Given the description of an element on the screen output the (x, y) to click on. 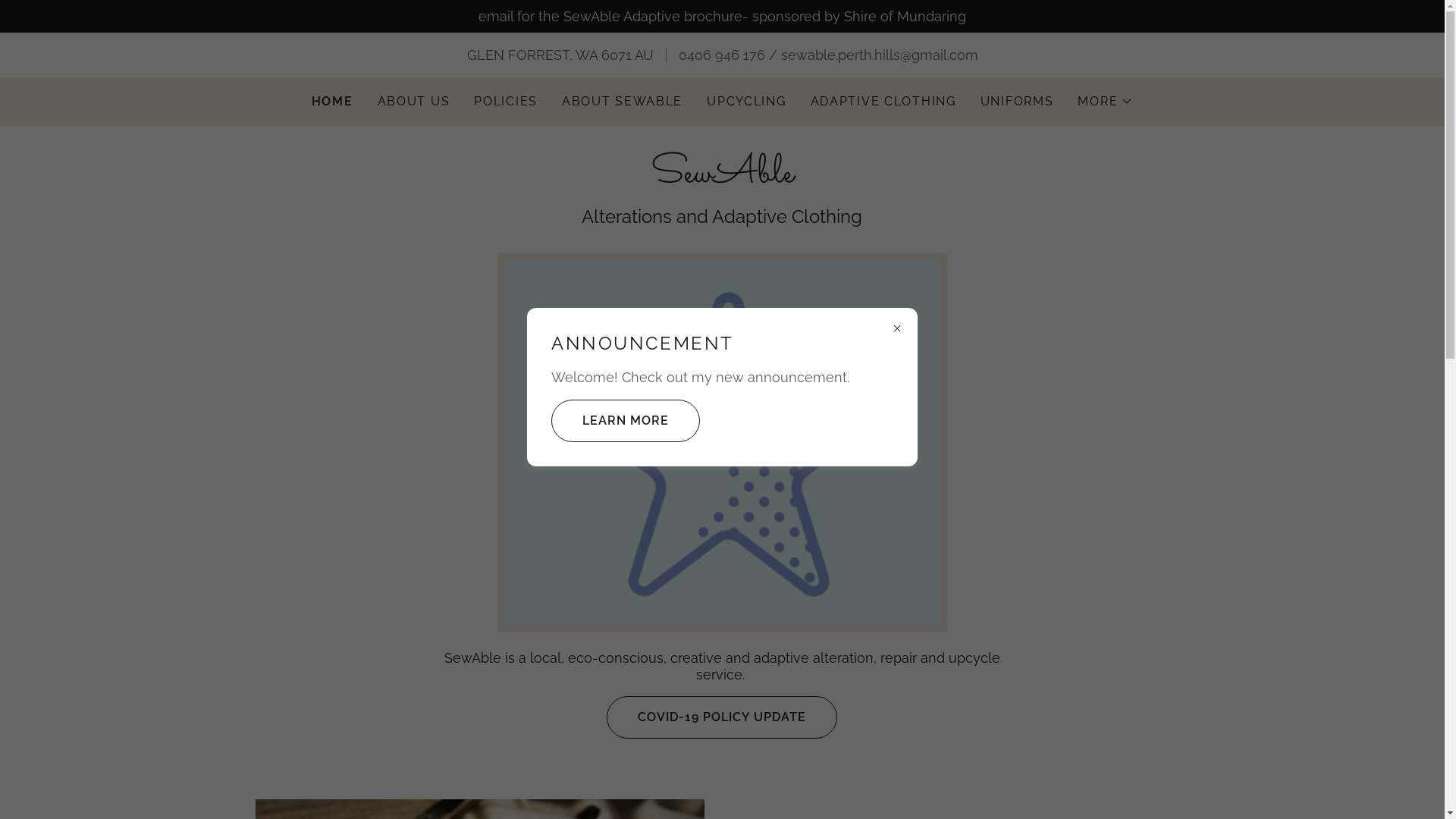
HOME Element type: text (332, 101)
COVID-19 POLICY UPDATE Element type: text (721, 717)
sewable.perth.hills@gmail.com Element type: text (879, 54)
ABOUT US Element type: text (414, 101)
MORE Element type: text (1104, 101)
ABOUT SEWABLE Element type: text (622, 101)
POLICIES Element type: text (505, 101)
UPCYCLING Element type: text (746, 101)
SewAble Element type: text (721, 177)
ADAPTIVE CLOTHING Element type: text (883, 101)
UNIFORMS Element type: text (1016, 101)
LEARN MORE Element type: text (625, 419)
0406 946 176 Element type: text (720, 54)
